Given the description of an element on the screen output the (x, y) to click on. 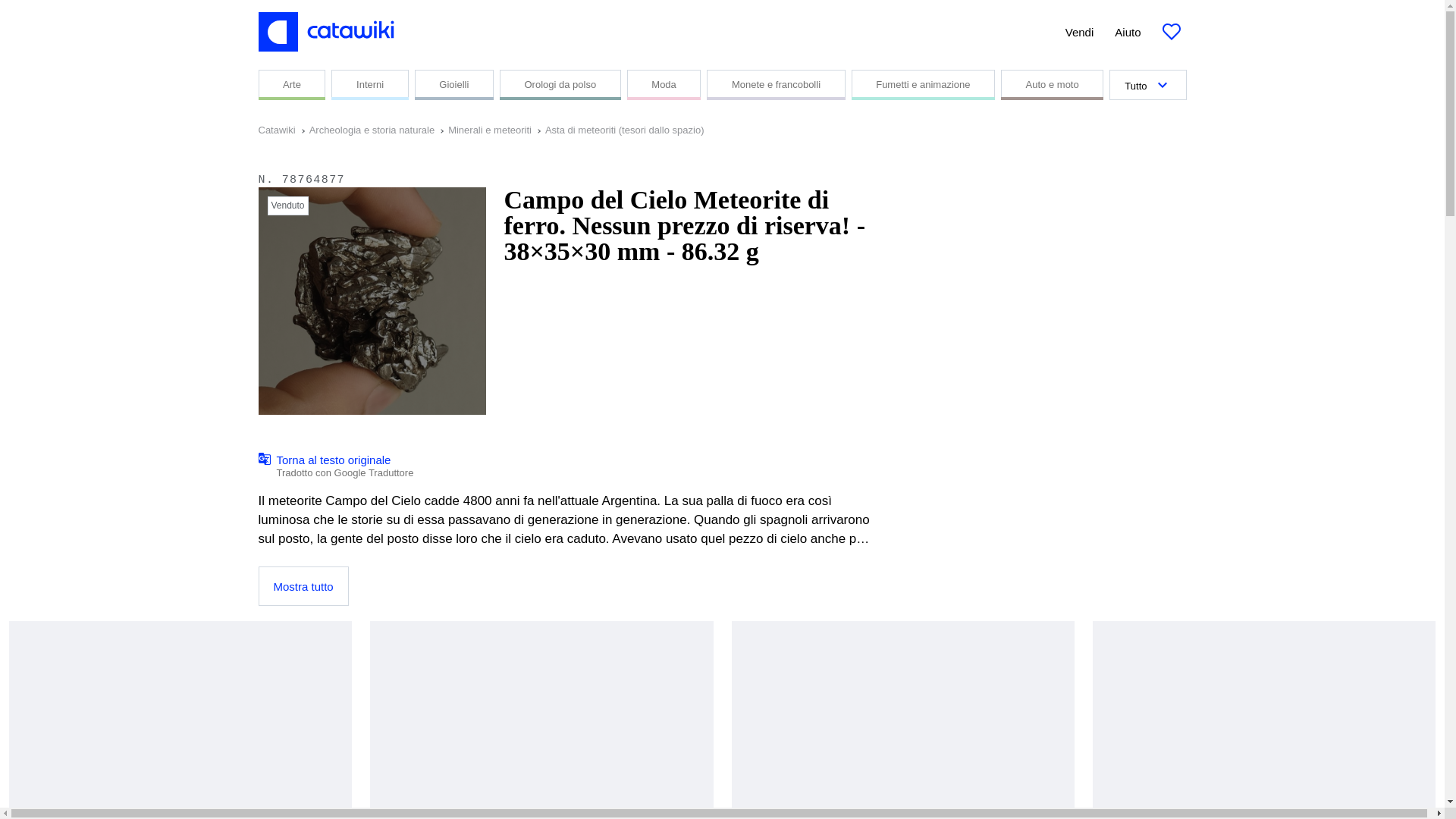
Vendi (1079, 31)
Gioielli (453, 84)
Monete e francobolli (775, 84)
Interni (369, 84)
Minerali e meteoriti (335, 465)
Orologi da polso (496, 129)
Moda (560, 84)
Arte (664, 84)
Aiuto (290, 84)
